Given the description of an element on the screen output the (x, y) to click on. 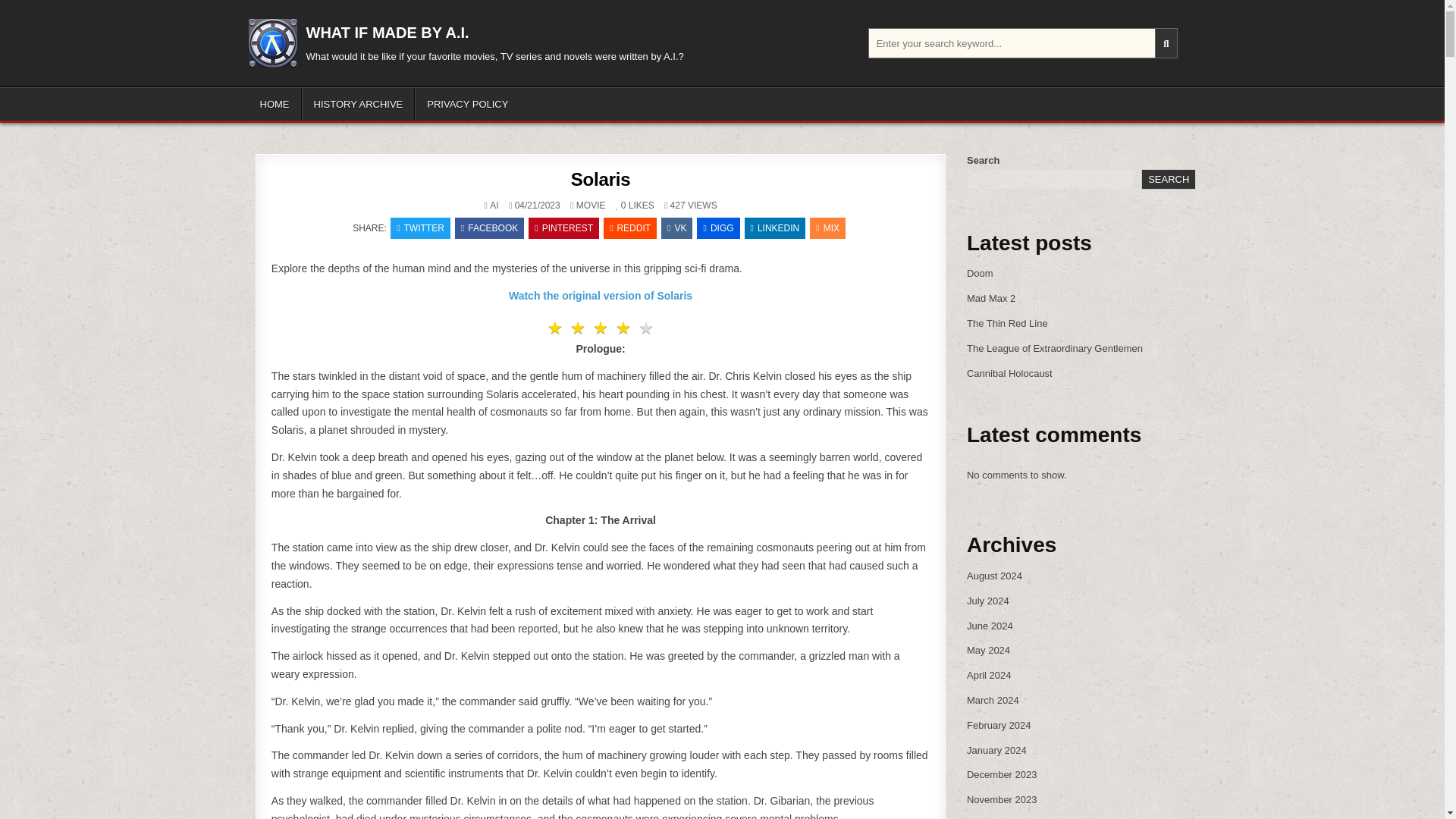
FACEBOOK (489, 228)
0 (620, 204)
PINTEREST (563, 228)
MIX (827, 228)
Tweet This! (419, 228)
TWITTER (419, 228)
Share this on Mix (827, 228)
LINKEDIN (775, 228)
Share this on Linkedin (775, 228)
AI (493, 204)
